Given the description of an element on the screen output the (x, y) to click on. 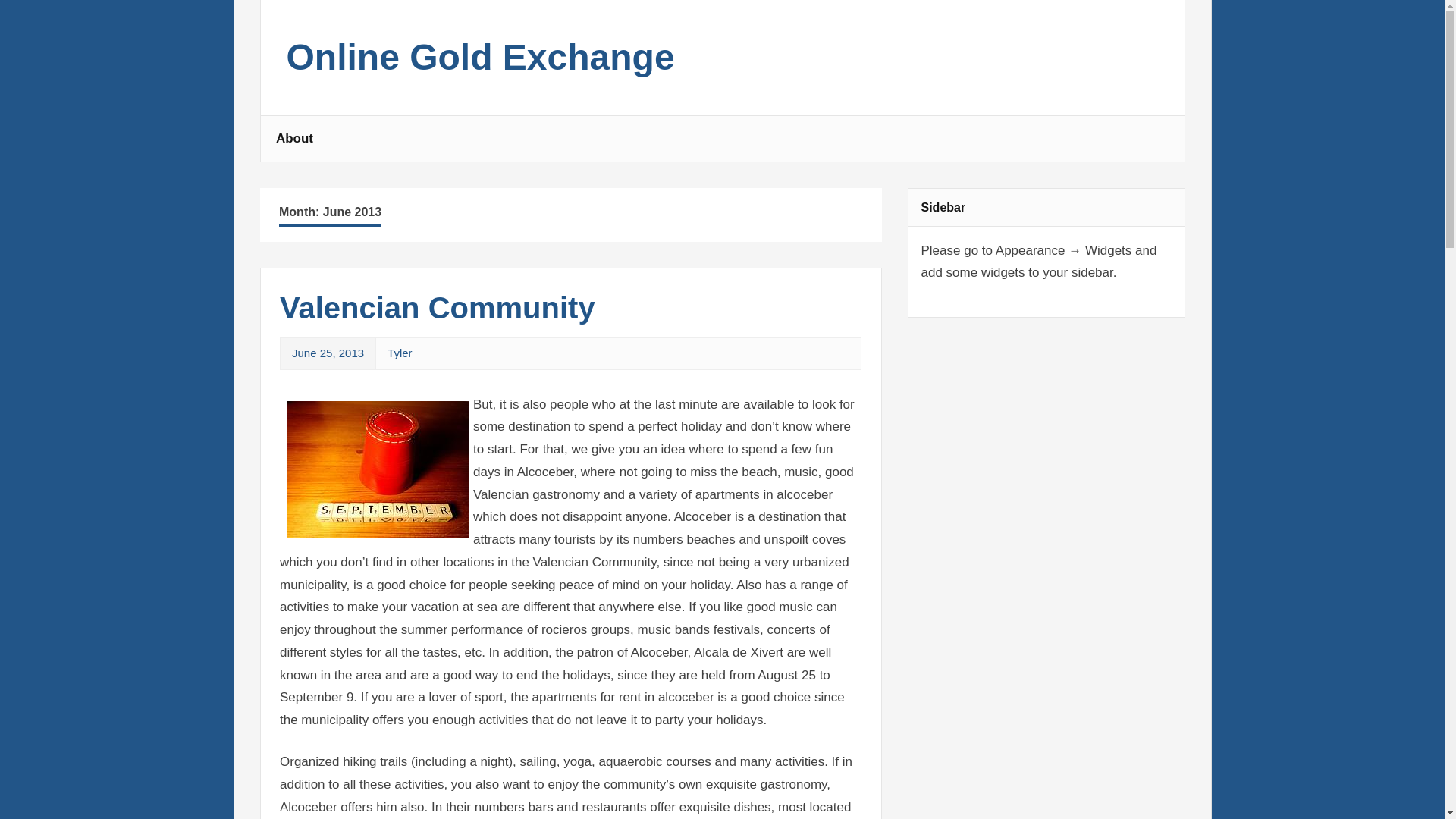
Valencian Community (437, 307)
Tyler (399, 352)
View all posts by Tyler (399, 352)
6:48 pm (328, 352)
June 25, 2013 (328, 352)
Online Gold Exchange (480, 65)
Online Gold Exchange (480, 65)
About (294, 138)
